Given the description of an element on the screen output the (x, y) to click on. 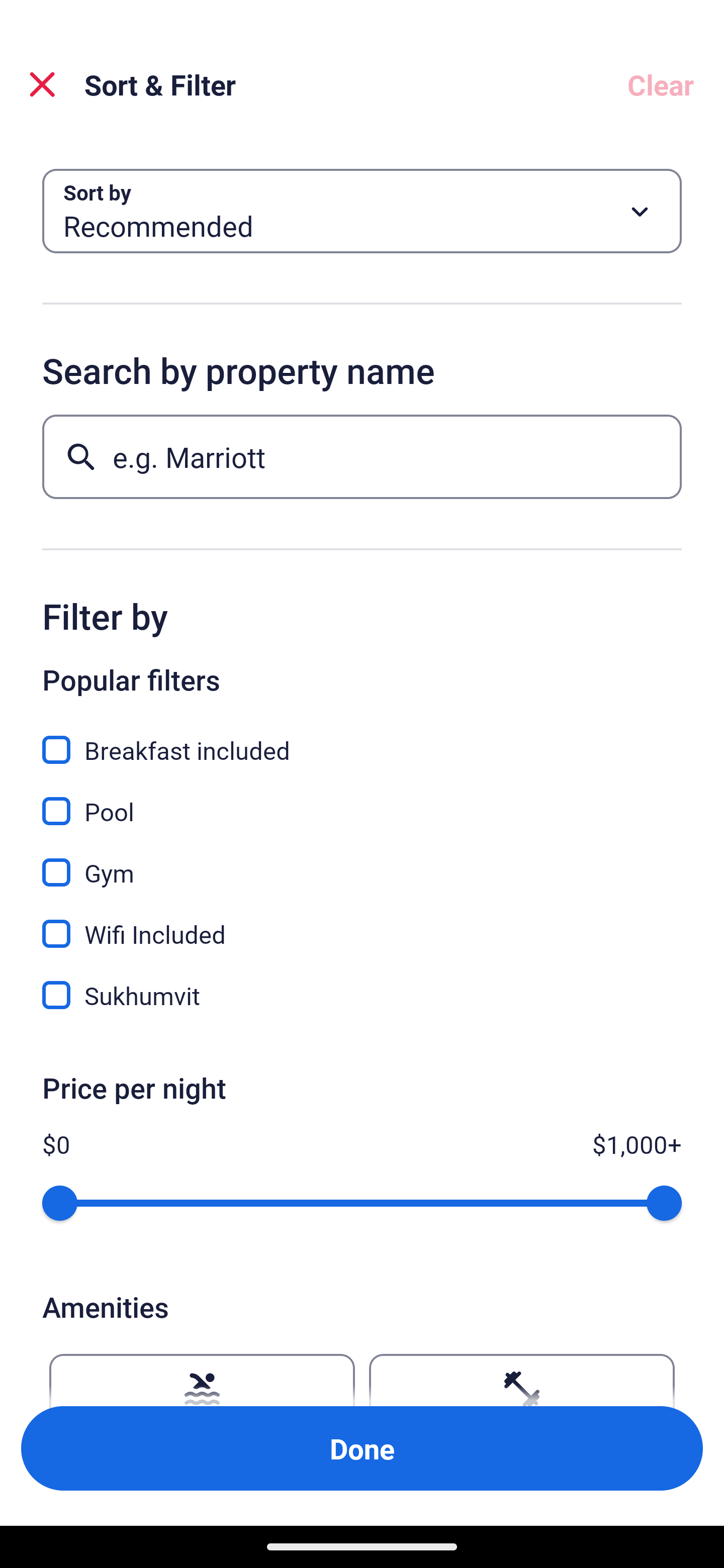
Close Sort and Filter (42, 84)
Clear (660, 84)
Sort by Button Recommended (361, 211)
e.g. Marriott Button (361, 455)
Breakfast included, Breakfast included (361, 738)
Pool, Pool (361, 800)
Gym, Gym (361, 861)
Wifi Included, Wifi Included (361, 922)
Sukhumvit, Sukhumvit (361, 995)
Apply and close Sort and Filter Done (361, 1448)
